Given the description of an element on the screen output the (x, y) to click on. 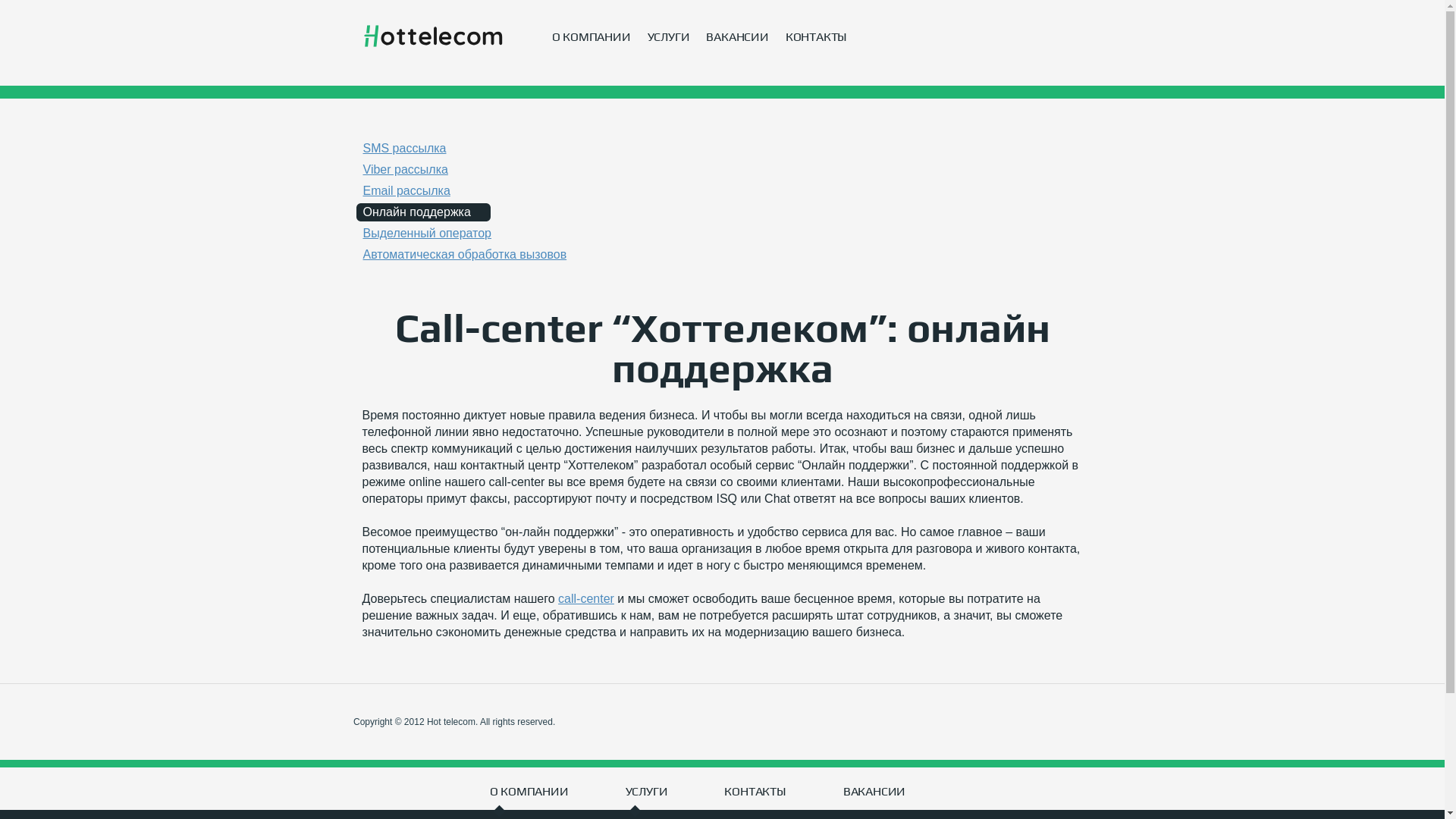
Hot telecom Element type: text (432, 36)
call-center Element type: text (586, 598)
